Given the description of an element on the screen output the (x, y) to click on. 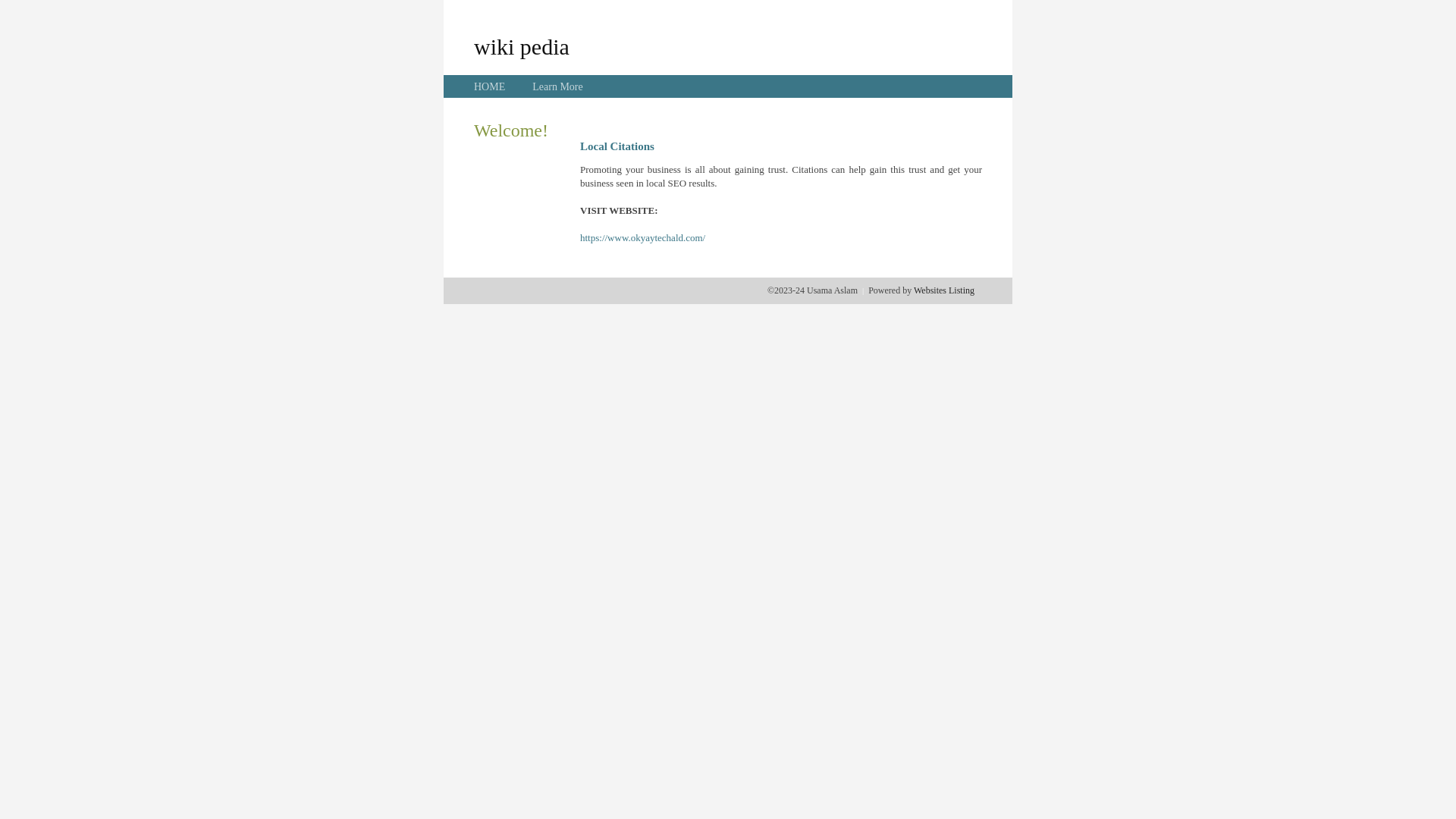
Learn More Element type: text (557, 86)
Websites Listing Element type: text (943, 290)
HOME Element type: text (489, 86)
https://www.okyaytechald.com/ Element type: text (642, 237)
wiki pedia Element type: text (521, 46)
